Given the description of an element on the screen output the (x, y) to click on. 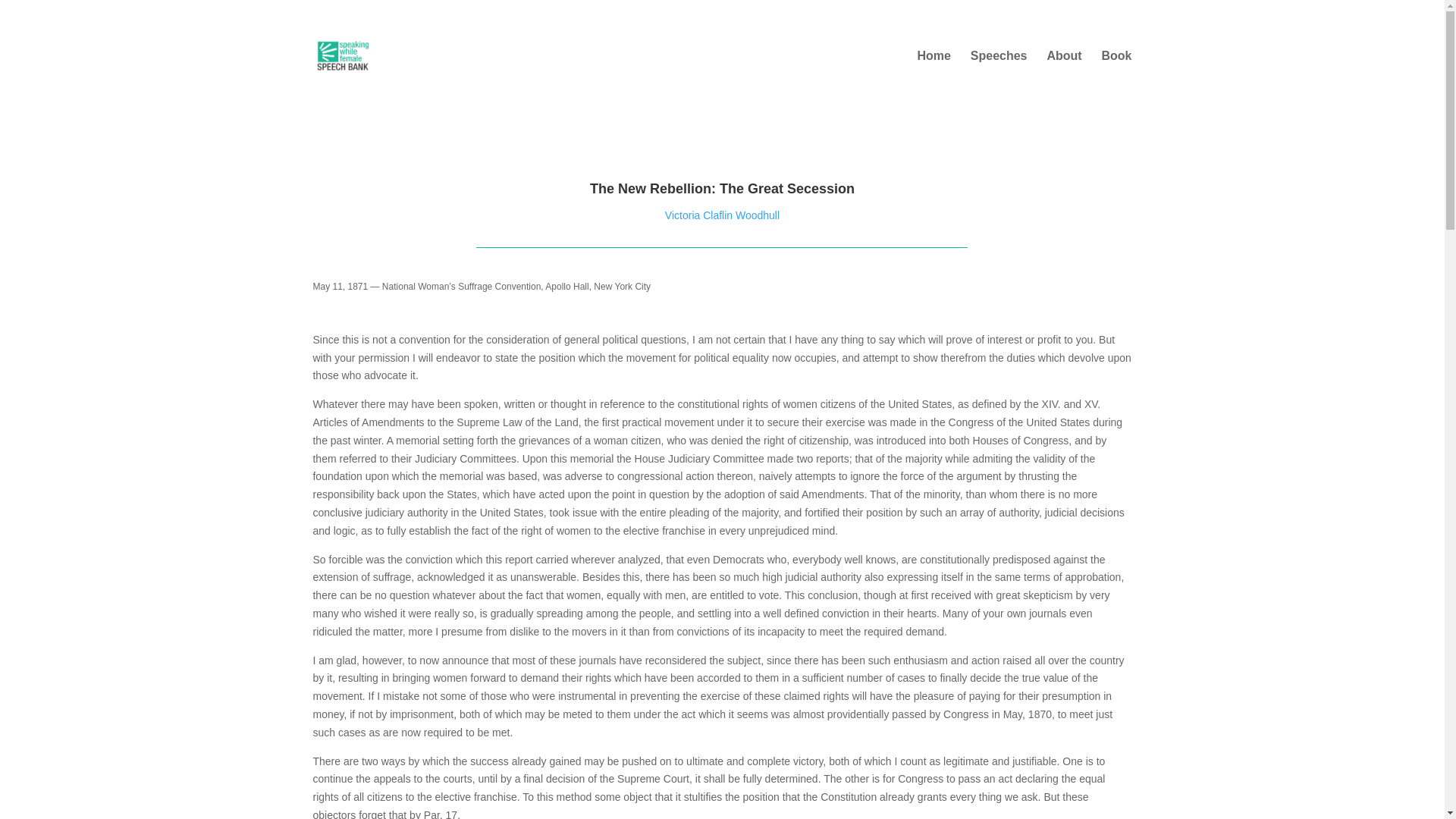
Home (933, 67)
Victoria Claflin Woodhull (721, 215)
Speeches (999, 67)
About (1063, 67)
